Given the description of an element on the screen output the (x, y) to click on. 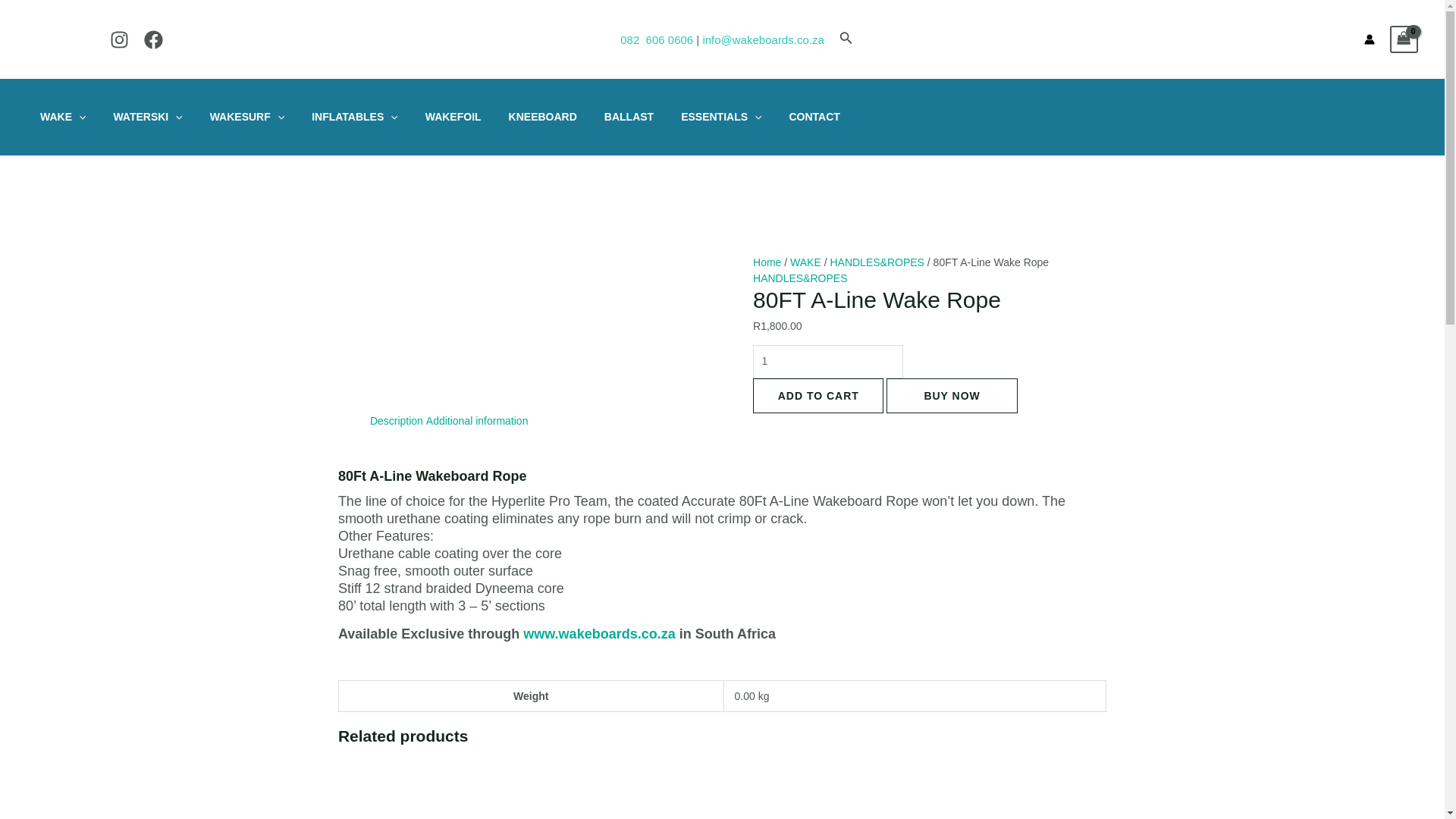
WATERSKI (147, 116)
082  606 0606 (656, 39)
WAKE (62, 116)
1 (827, 361)
